Given the description of an element on the screen output the (x, y) to click on. 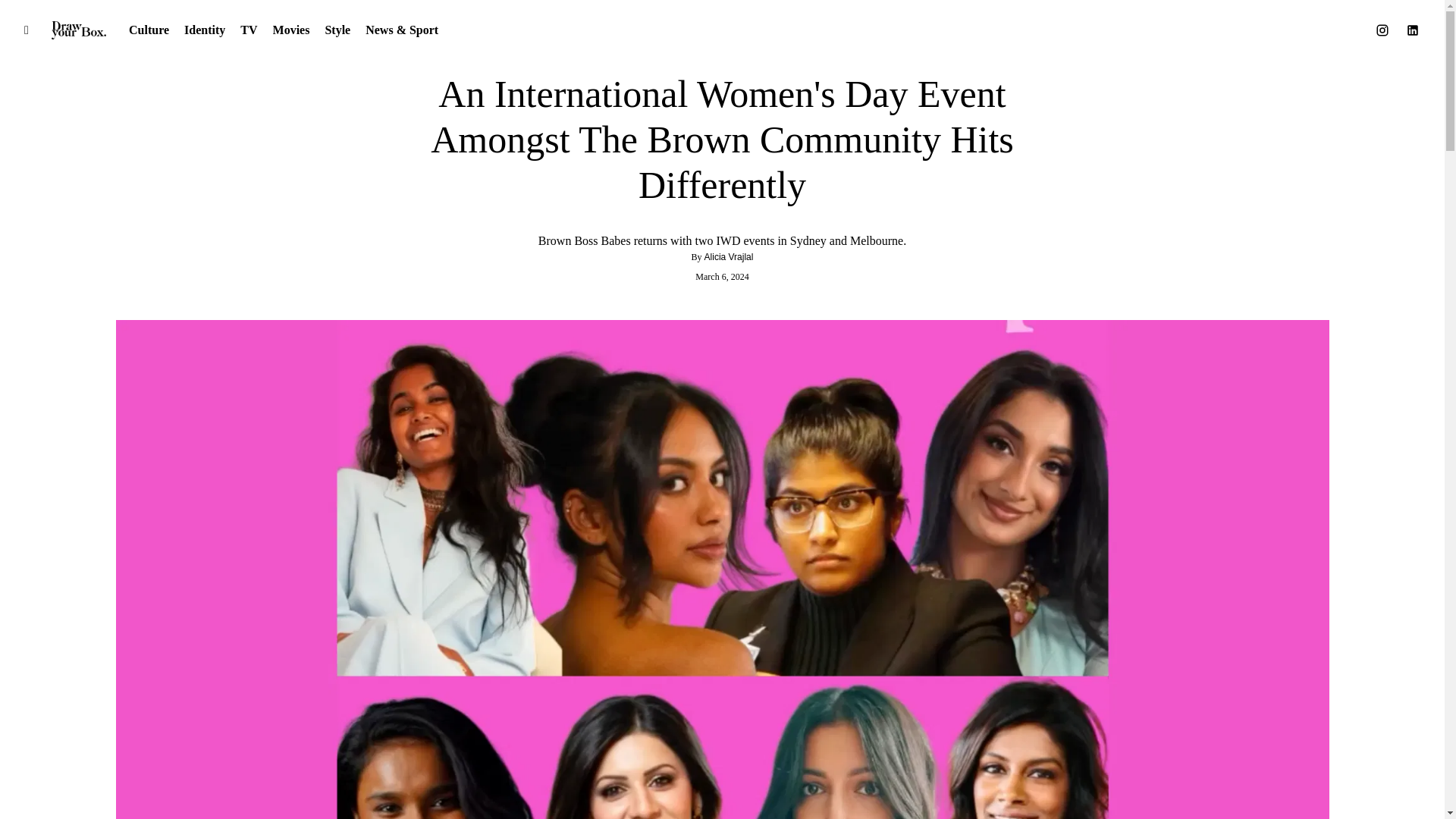
Movies (290, 30)
Identity (204, 30)
Identity (722, 47)
Alicia Vrajlal (729, 256)
TV (248, 30)
Style (337, 30)
Culture (148, 30)
